Given the description of an element on the screen output the (x, y) to click on. 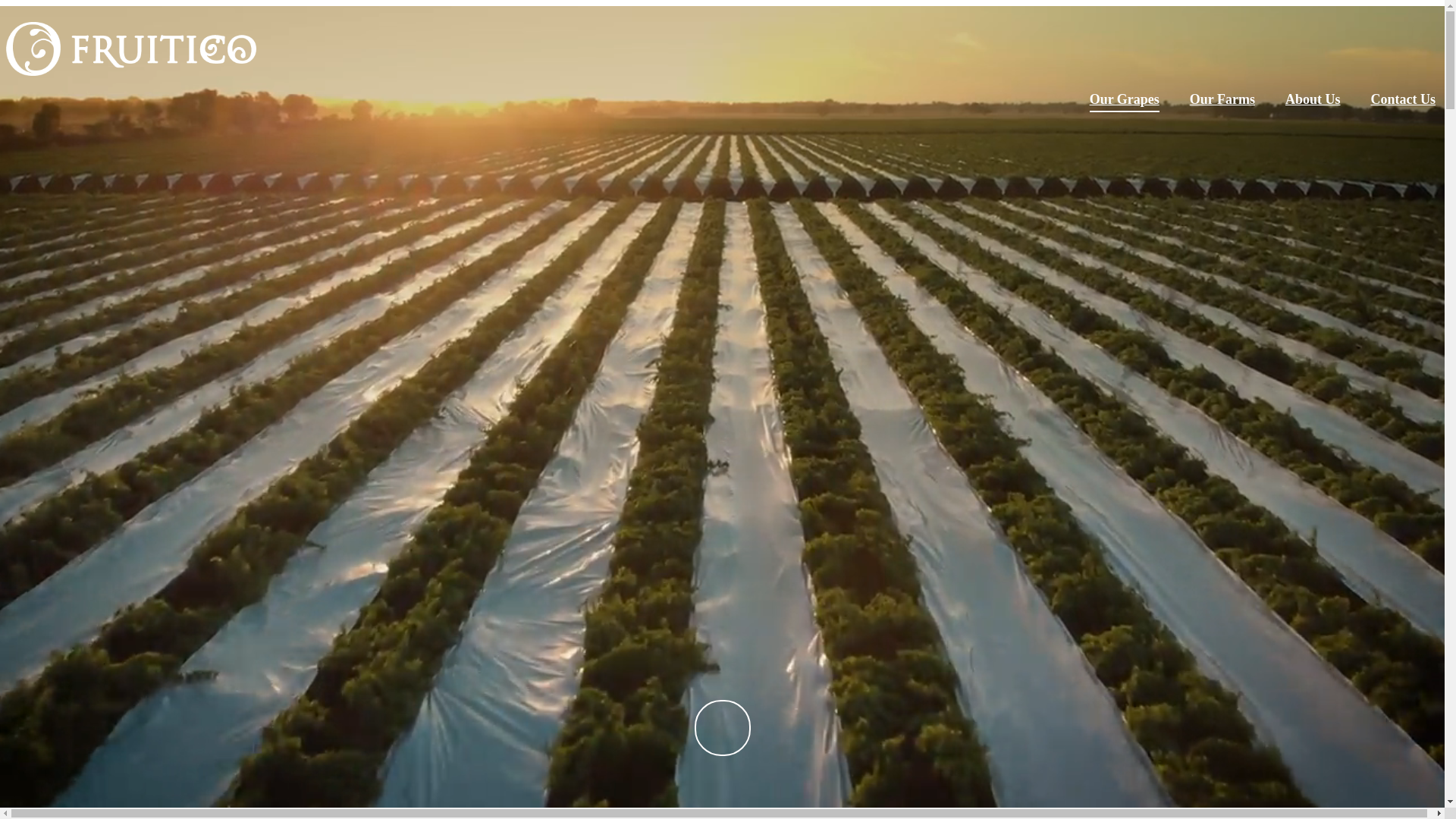
Fruitico Element type: text (131, 48)
About Us Element type: text (1312, 100)
Our Grapes Element type: text (1124, 101)
Contact Us Element type: text (1403, 100)
Our Farms Element type: text (1222, 100)
